Given the description of an element on the screen output the (x, y) to click on. 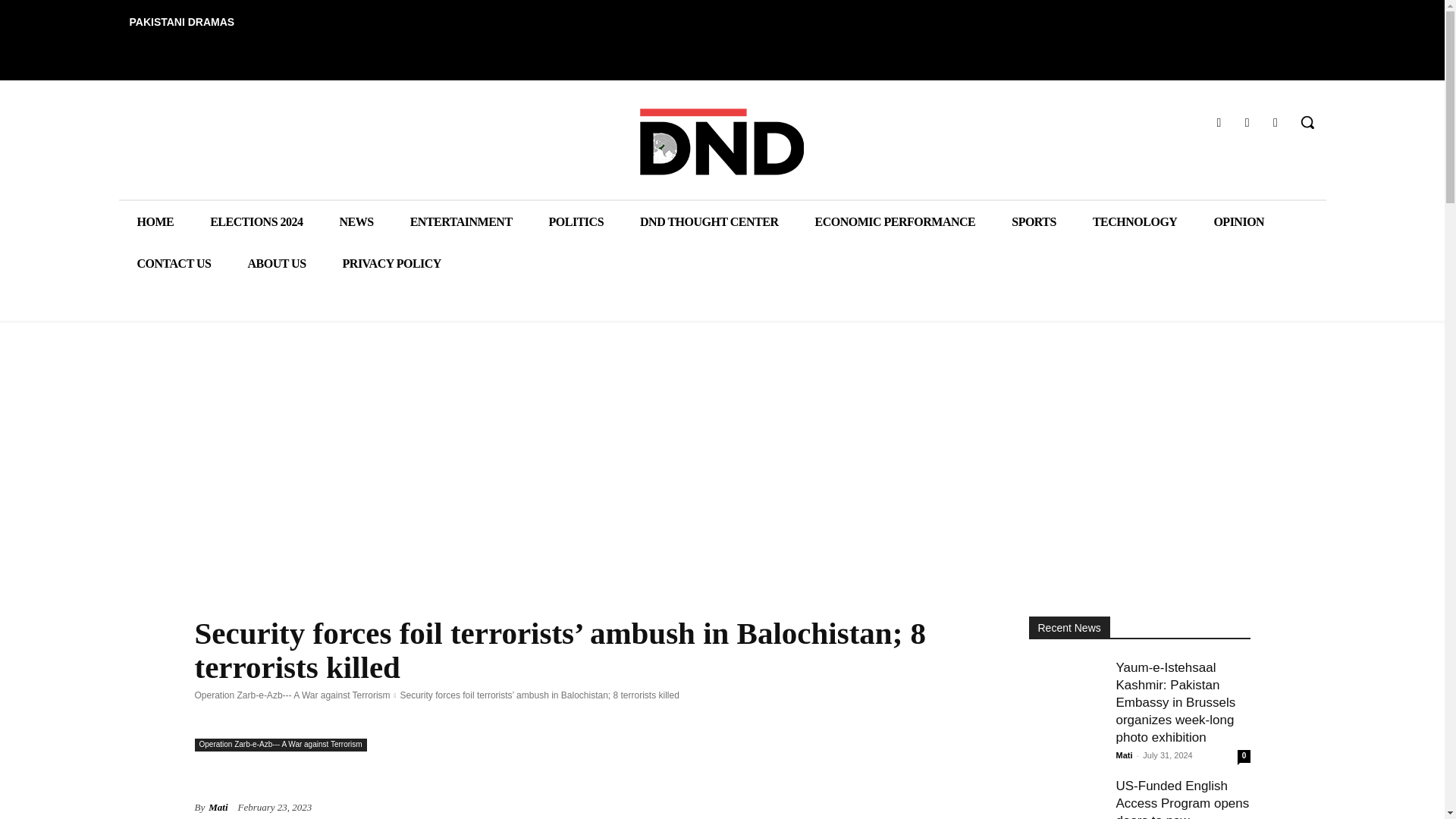
Instagram (1246, 122)
CONTACT US (172, 263)
ECONOMIC PERFORMANCE (894, 221)
POLITICS (576, 221)
TECHNOLOGY (1134, 221)
SPORTS (1033, 221)
OPINION (1238, 221)
NEWS (356, 221)
ELECTIONS 2024 (256, 221)
PAKISTANI DRAMAS (180, 22)
DND THOUGHT CENTER (708, 221)
PRIVACY POLICY (392, 263)
ENTERTAINMENT (461, 221)
ABOUT US (275, 263)
